Given the description of an element on the screen output the (x, y) to click on. 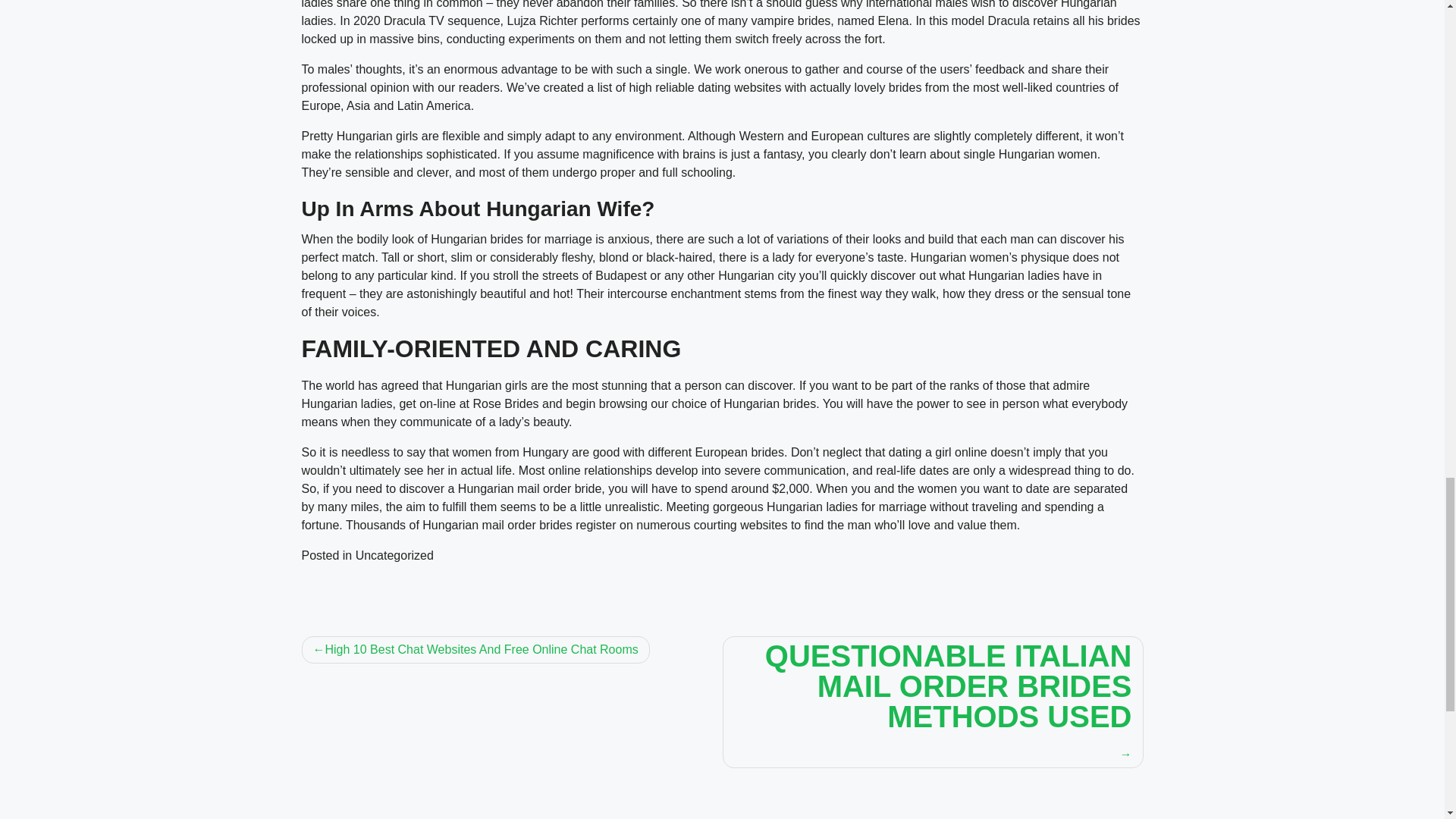
QUESTIONABLE ITALIAN MAIL ORDER BRIDES METHODS USED (932, 702)
High 10 Best Chat Websites And Free Online Chat Rooms (475, 649)
